Given the description of an element on the screen output the (x, y) to click on. 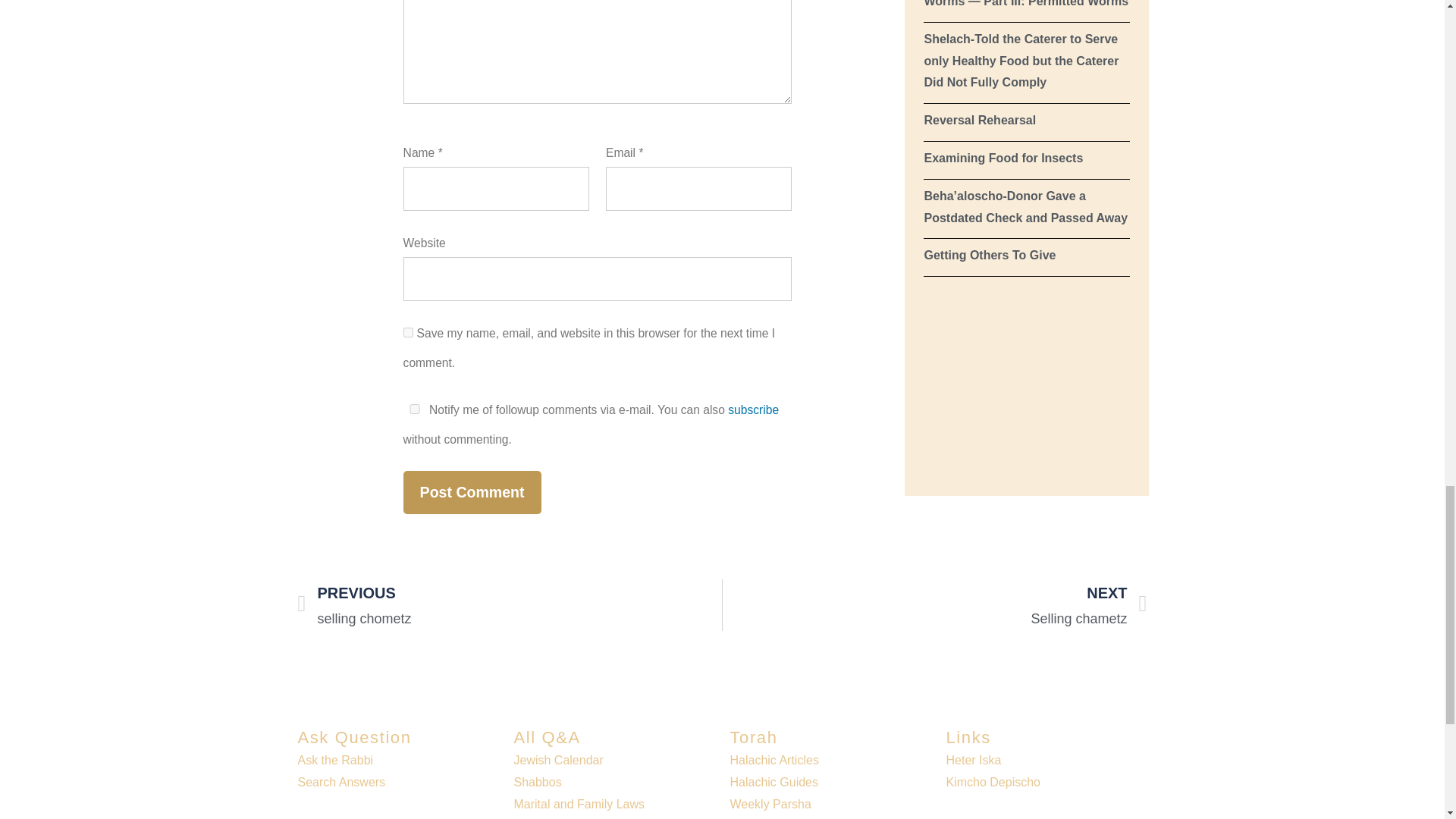
yes (408, 332)
Post Comment (472, 492)
yes (414, 409)
